Given the description of an element on the screen output the (x, y) to click on. 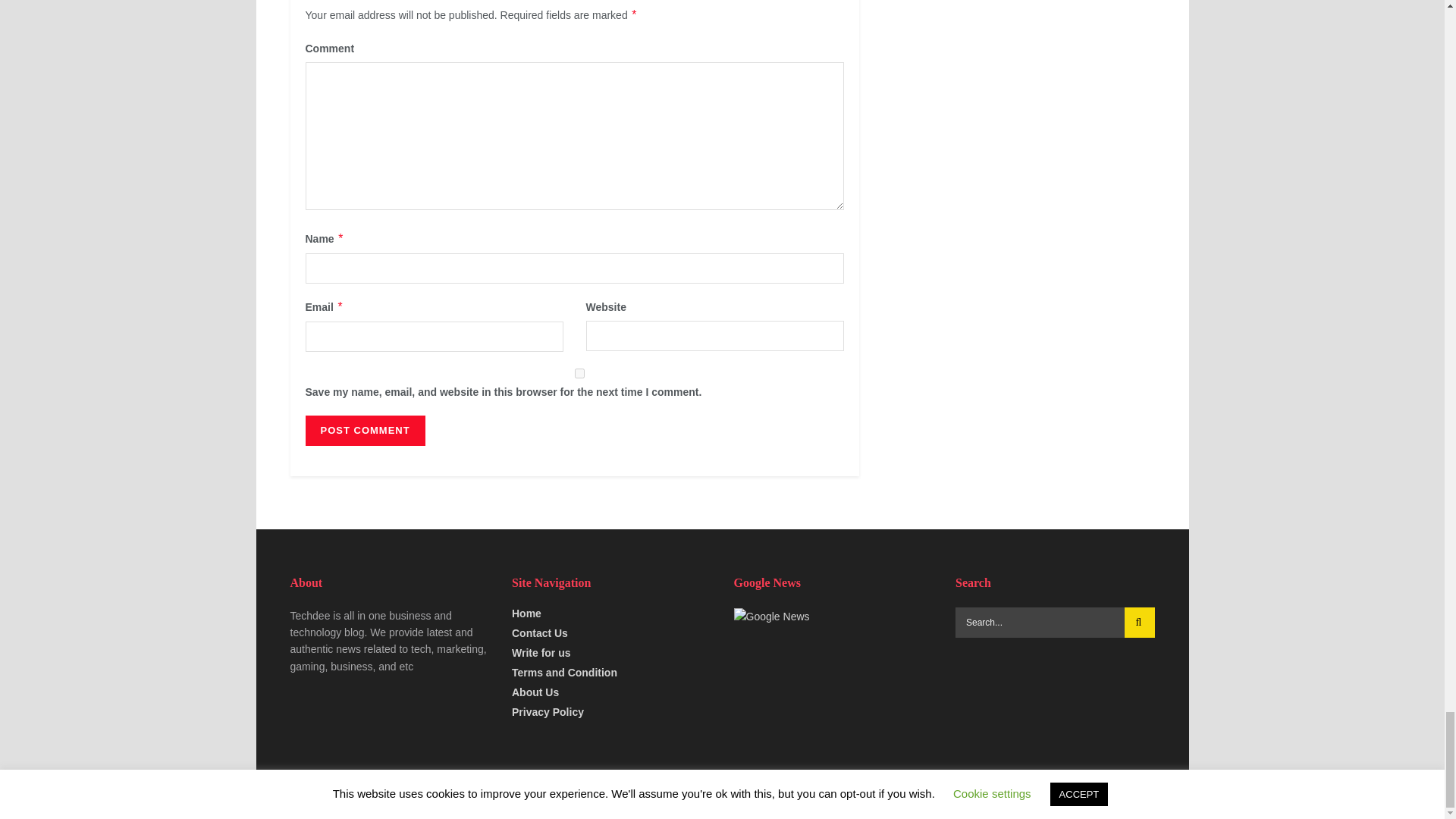
yes (580, 373)
Post Comment (364, 430)
